Given the description of an element on the screen output the (x, y) to click on. 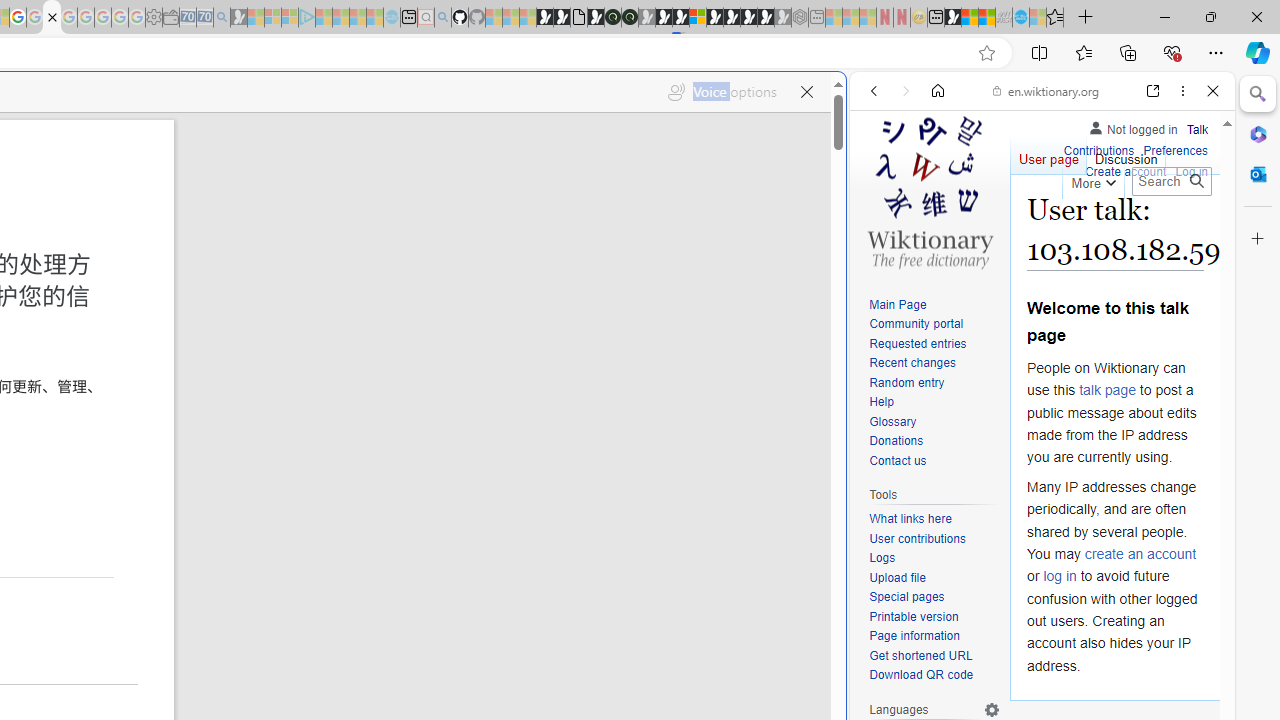
This site scope (936, 180)
Future Focus Report 2024 (629, 17)
Upload file (897, 577)
Services - Maintenance | Sky Blue Bikes - Sky Blue Bikes (1020, 17)
Search Filter, WEB (882, 228)
Search or enter web address (343, 191)
Voice options (721, 87)
